Given the description of an element on the screen output the (x, y) to click on. 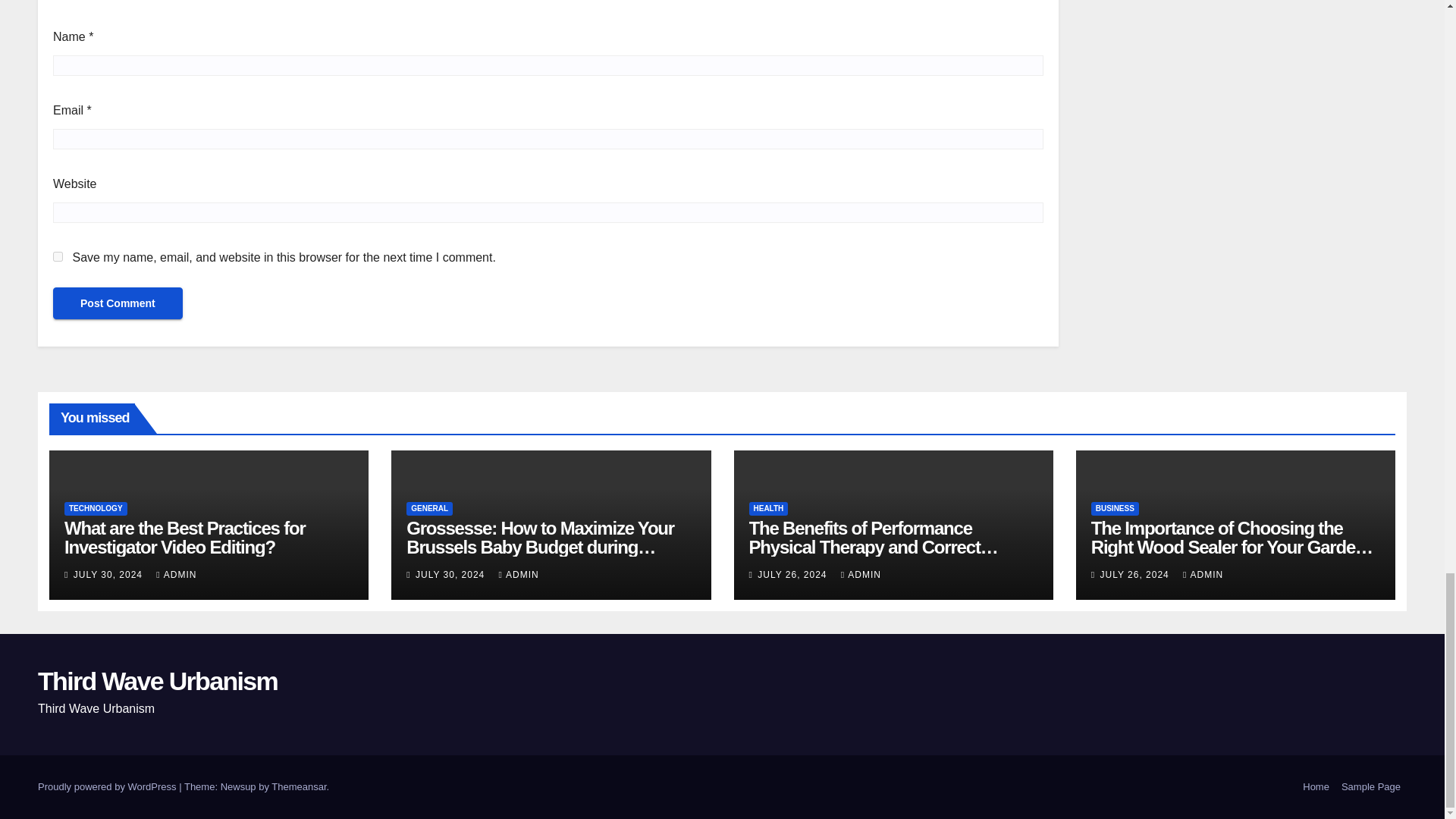
Home (1316, 786)
Post Comment (117, 303)
Post Comment (117, 303)
yes (57, 256)
